Given the description of an element on the screen output the (x, y) to click on. 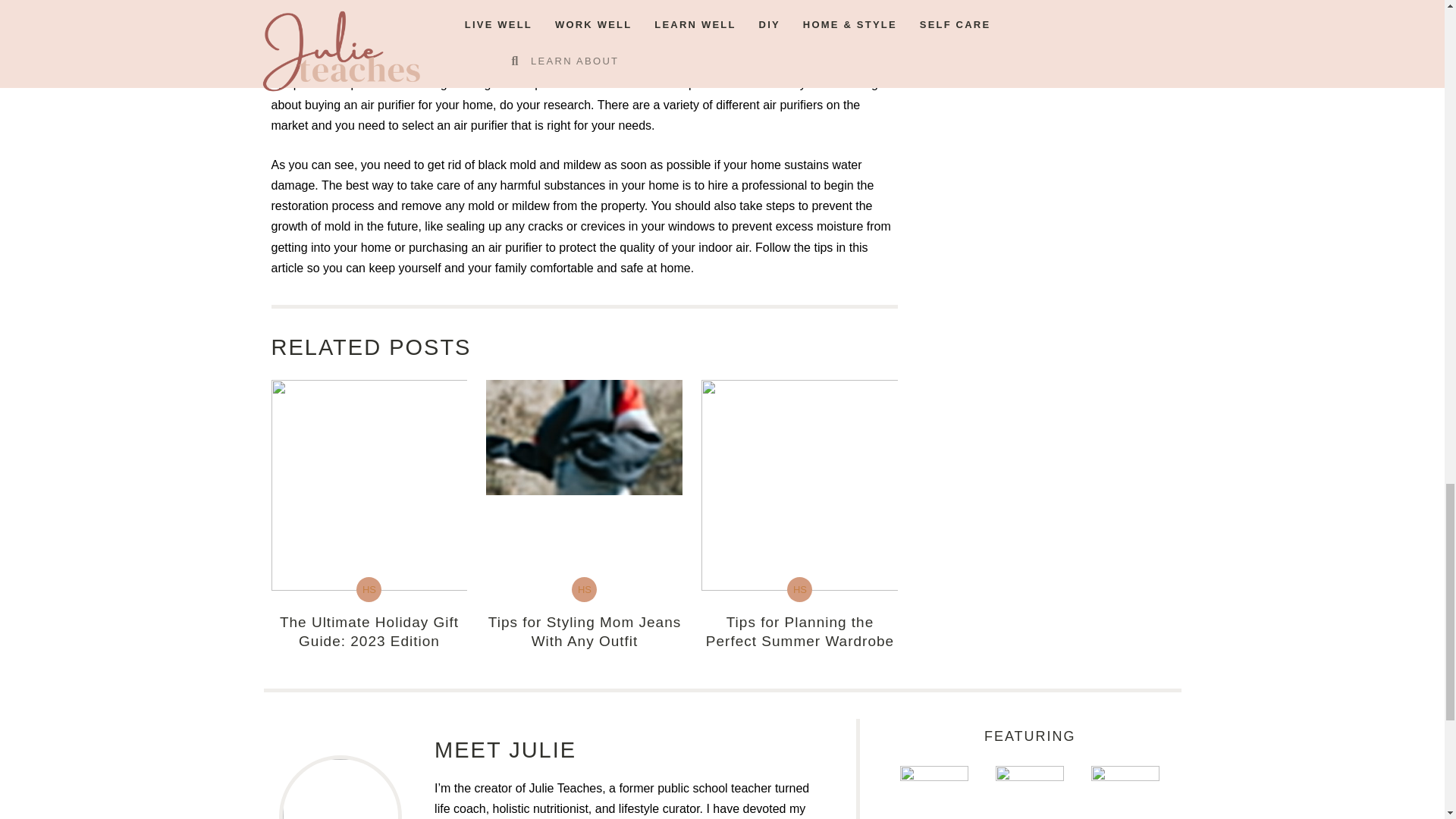
The Ultimate Holiday Gift Guide: 2023 Edition (368, 631)
HS (368, 589)
improve the air quality in your home (578, 52)
